Given the description of an element on the screen output the (x, y) to click on. 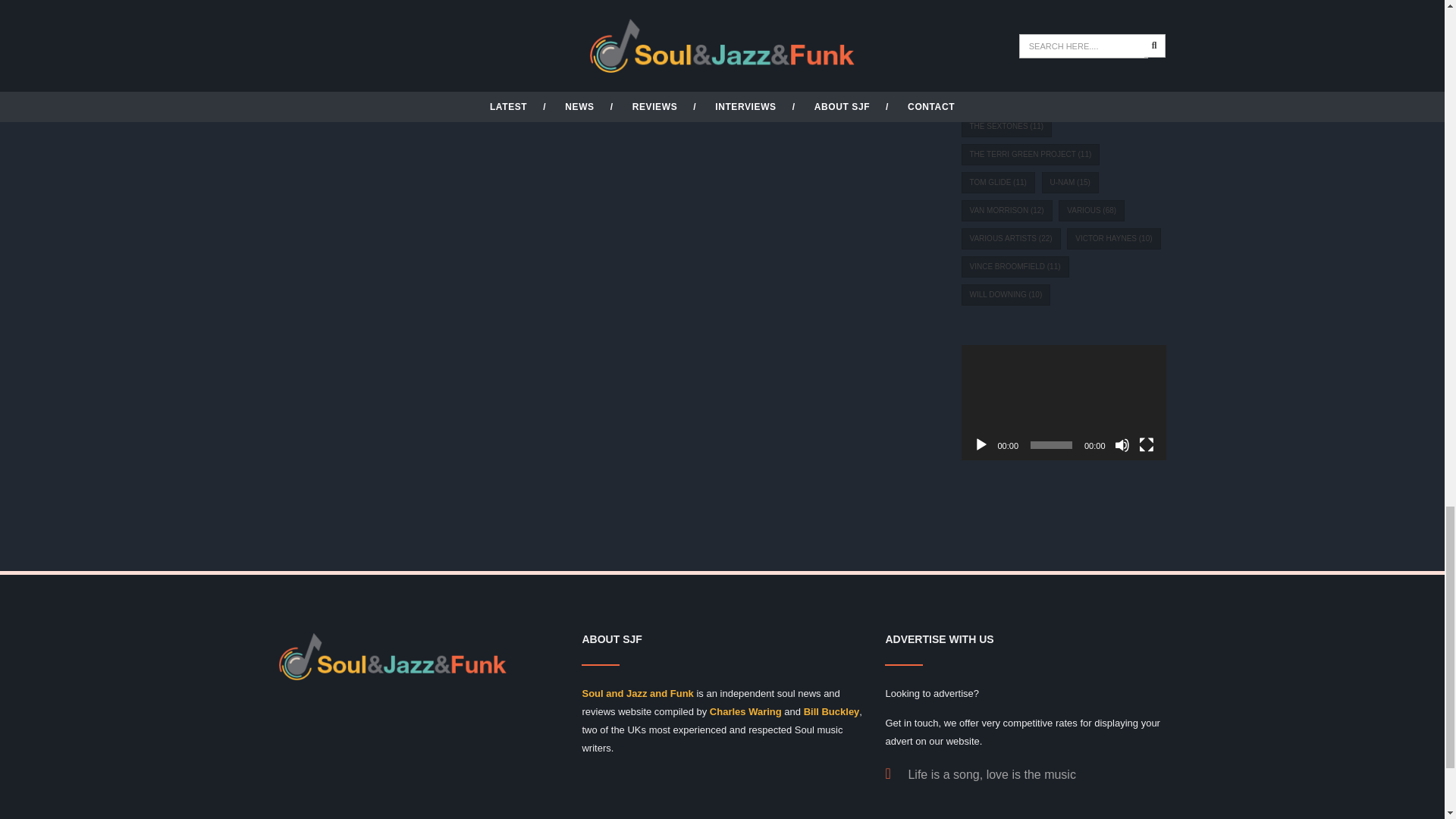
Fullscreen (1146, 444)
Mute (1122, 444)
Play (981, 444)
